Given the description of an element on the screen output the (x, y) to click on. 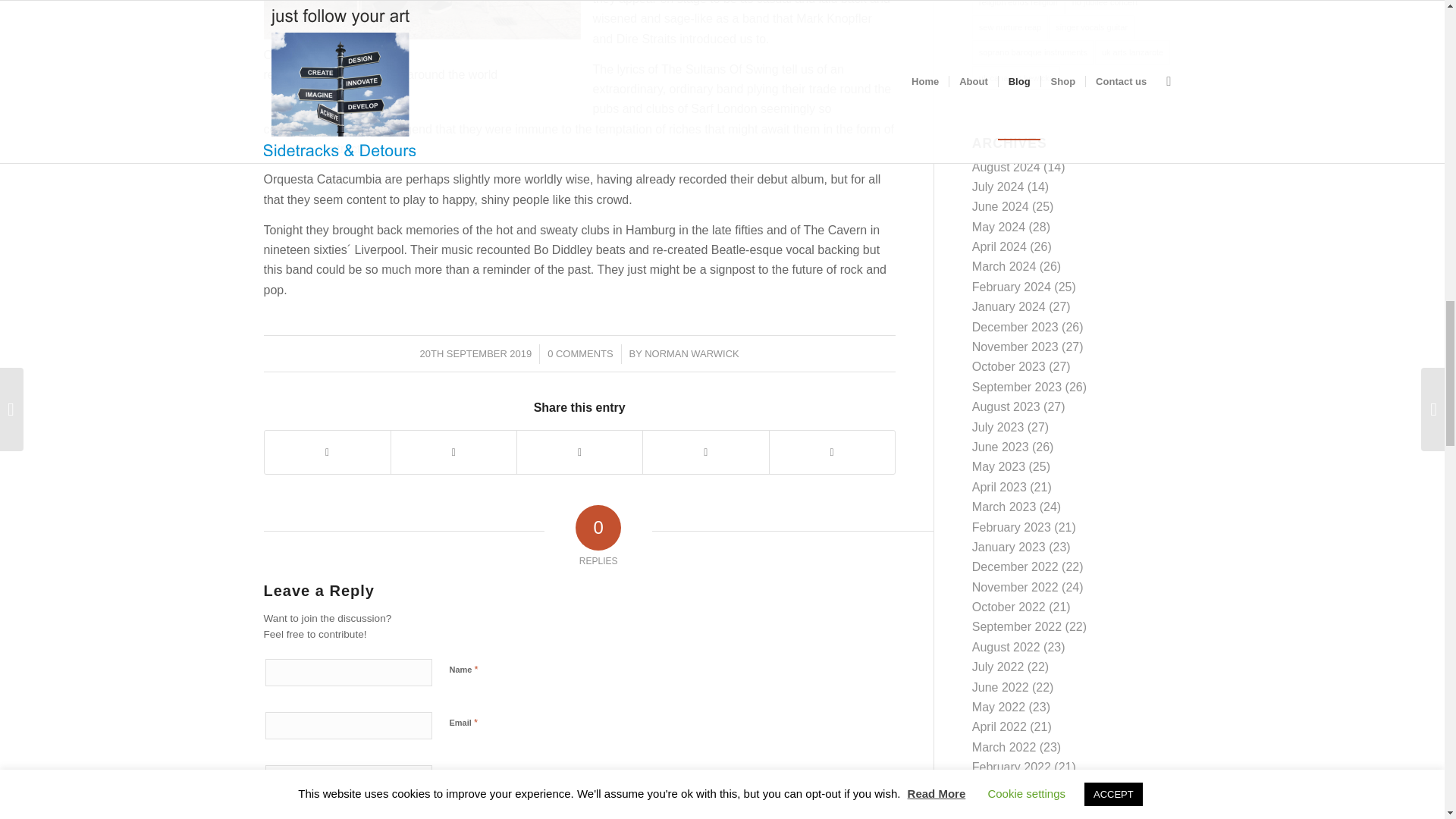
0 COMMENTS (579, 353)
Posts by Norman Warwick (692, 353)
NORMAN WARWICK (692, 353)
